Given the description of an element on the screen output the (x, y) to click on. 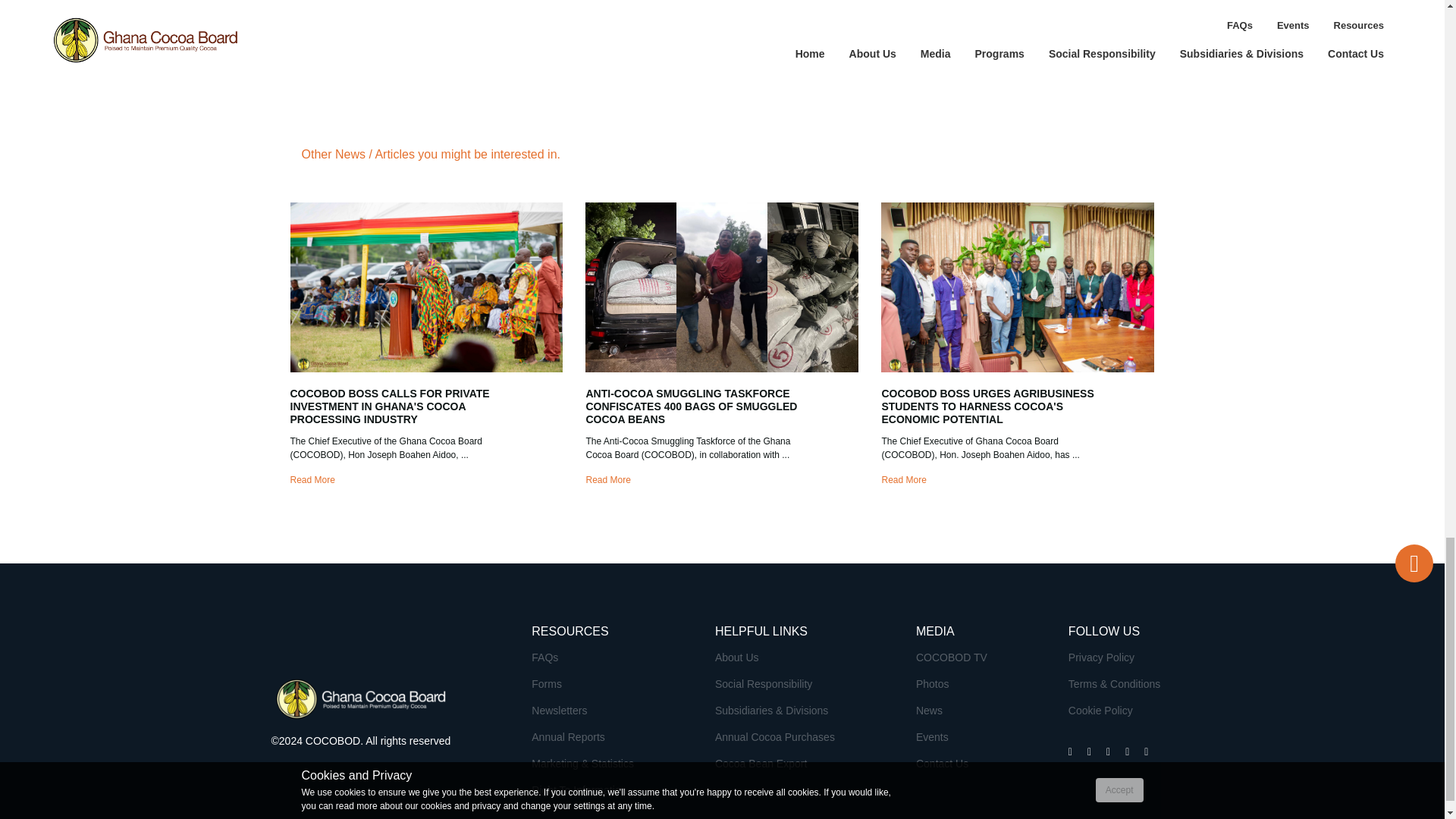
Read More (607, 480)
Read More (903, 480)
Read More (311, 480)
FAQs (544, 657)
